Given the description of an element on the screen output the (x, y) to click on. 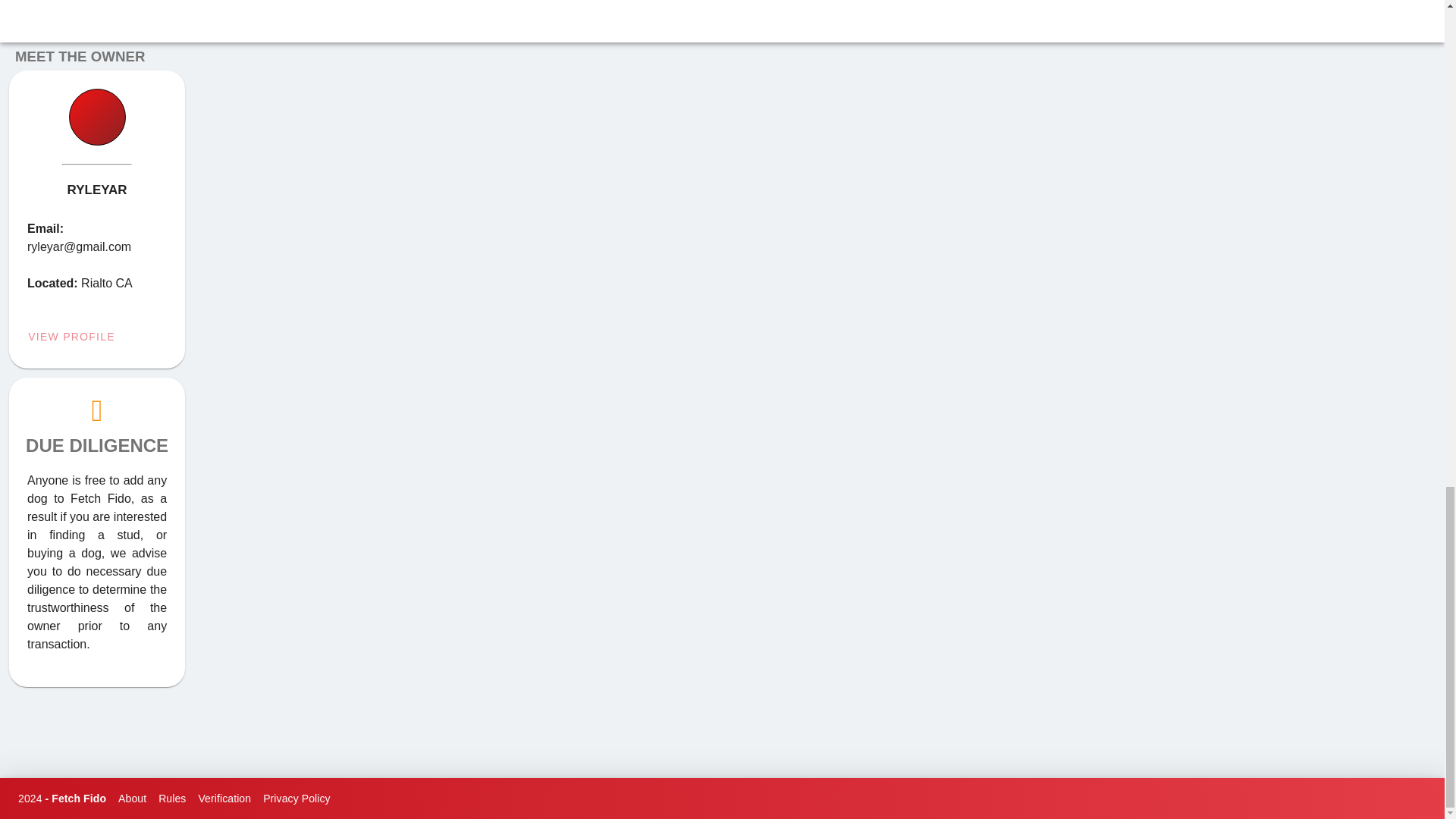
Privacy Policy (296, 798)
VIEW PROFILE (77, 335)
Verification (224, 798)
Rules (172, 798)
About (132, 798)
VIEW PROFILE (77, 336)
